Given the description of an element on the screen output the (x, y) to click on. 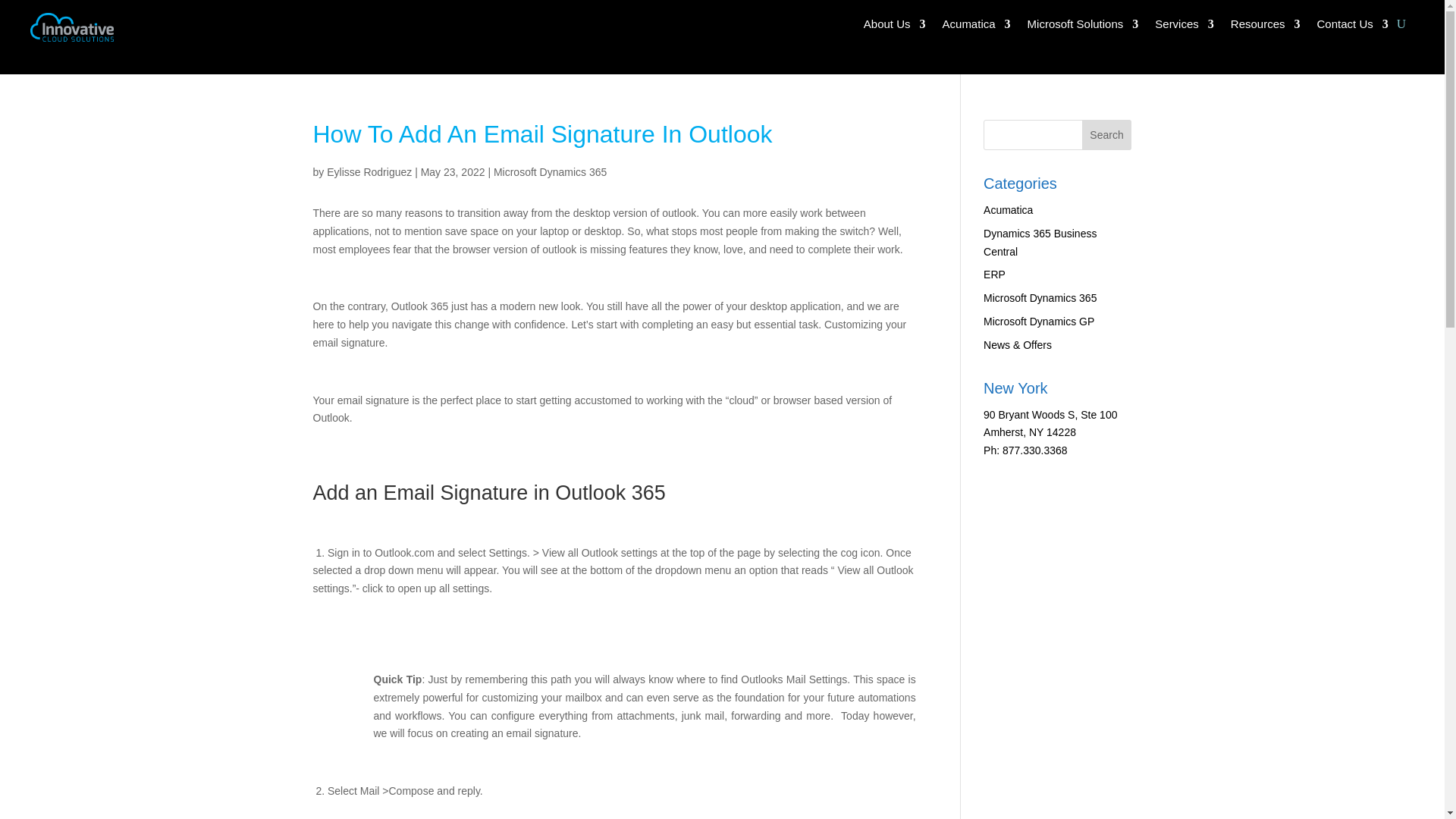
Microsoft Solutions (1082, 27)
ICS Logo (71, 27)
Resources (1265, 27)
About Us (894, 27)
Services (1184, 27)
Contact Us (1353, 27)
Search (1106, 134)
Acumatica (976, 27)
Posts by Eylisse Rodriguez (369, 172)
